Given the description of an element on the screen output the (x, y) to click on. 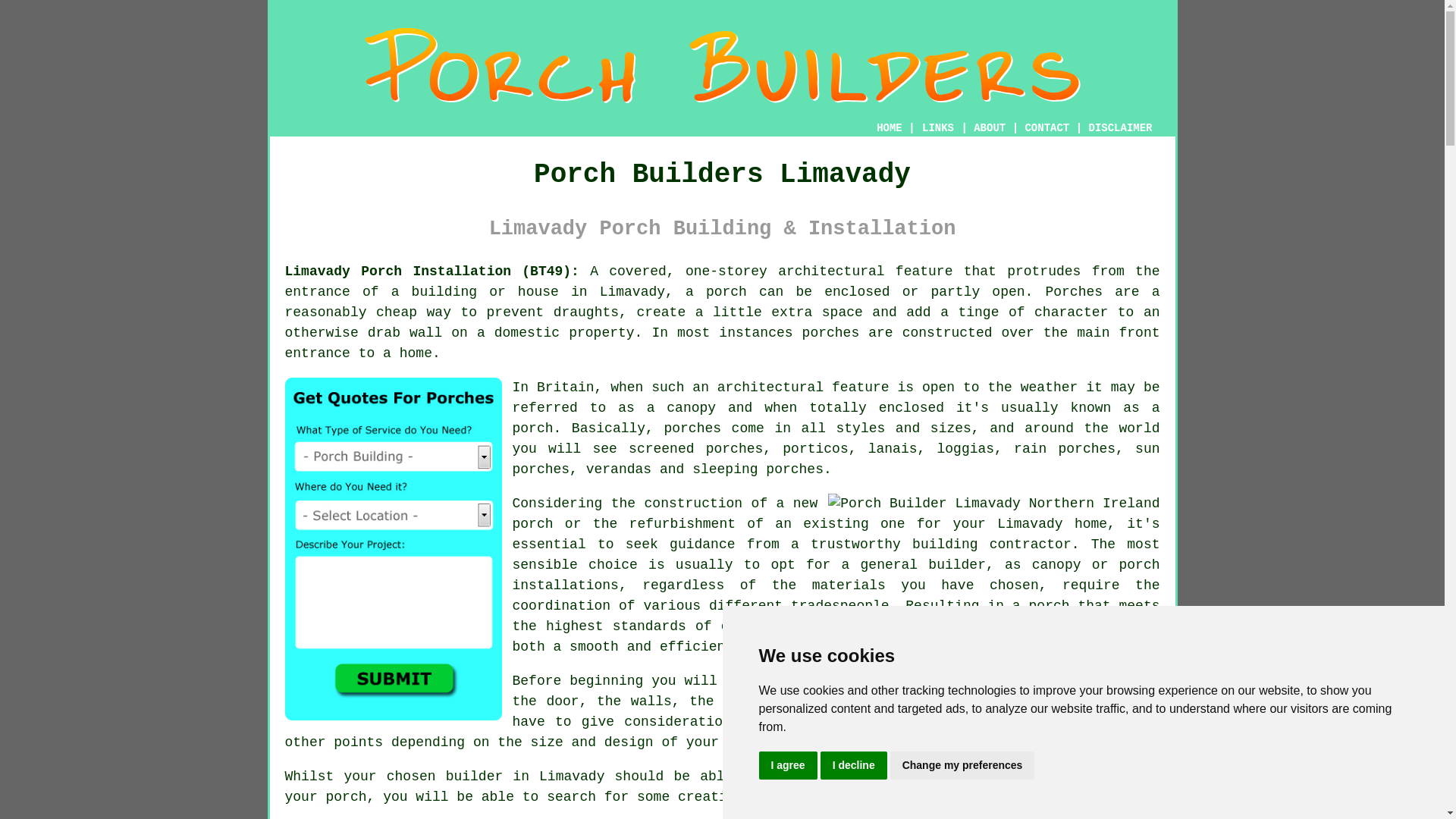
building contractor (991, 544)
I agree (787, 765)
a porch (715, 291)
Porch Builder Limavady Northern Ireland (993, 503)
verandas (618, 468)
HOME (889, 128)
LINKS (938, 128)
a porch (1040, 605)
screened porches (695, 448)
I decline (853, 765)
